Given the description of an element on the screen output the (x, y) to click on. 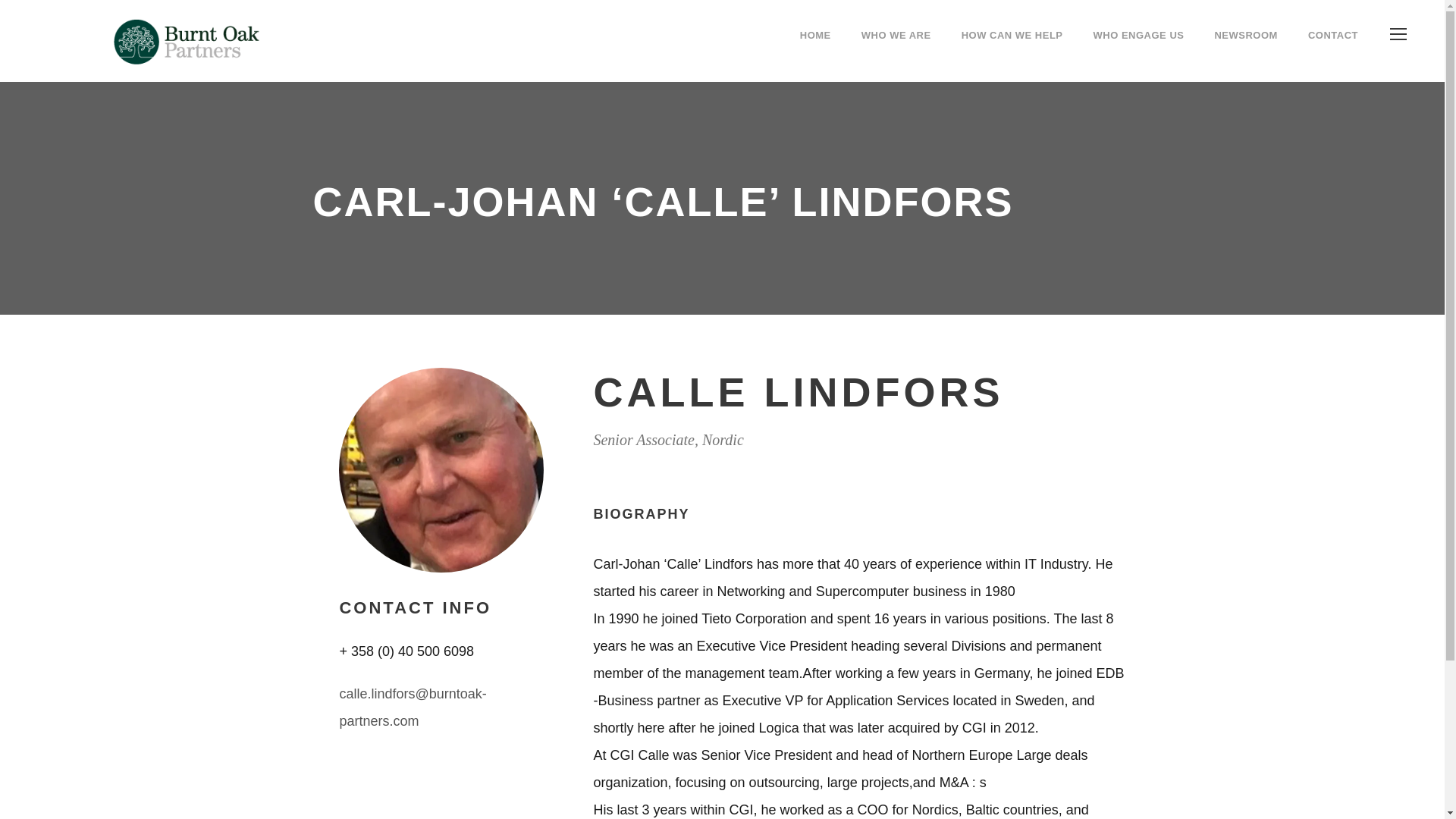
WHO WE ARE (896, 48)
linkedin (769, 669)
HOW CAN WE HELP (1011, 48)
CONTACT (1332, 48)
WHO ENGAGE US (1139, 48)
TERMS AND CONDITIONS (384, 595)
CALLE LINDFORS1x1 (441, 469)
NEWSROOM (1245, 48)
PRIVACY POLICY (395, 549)
